Given the description of an element on the screen output the (x, y) to click on. 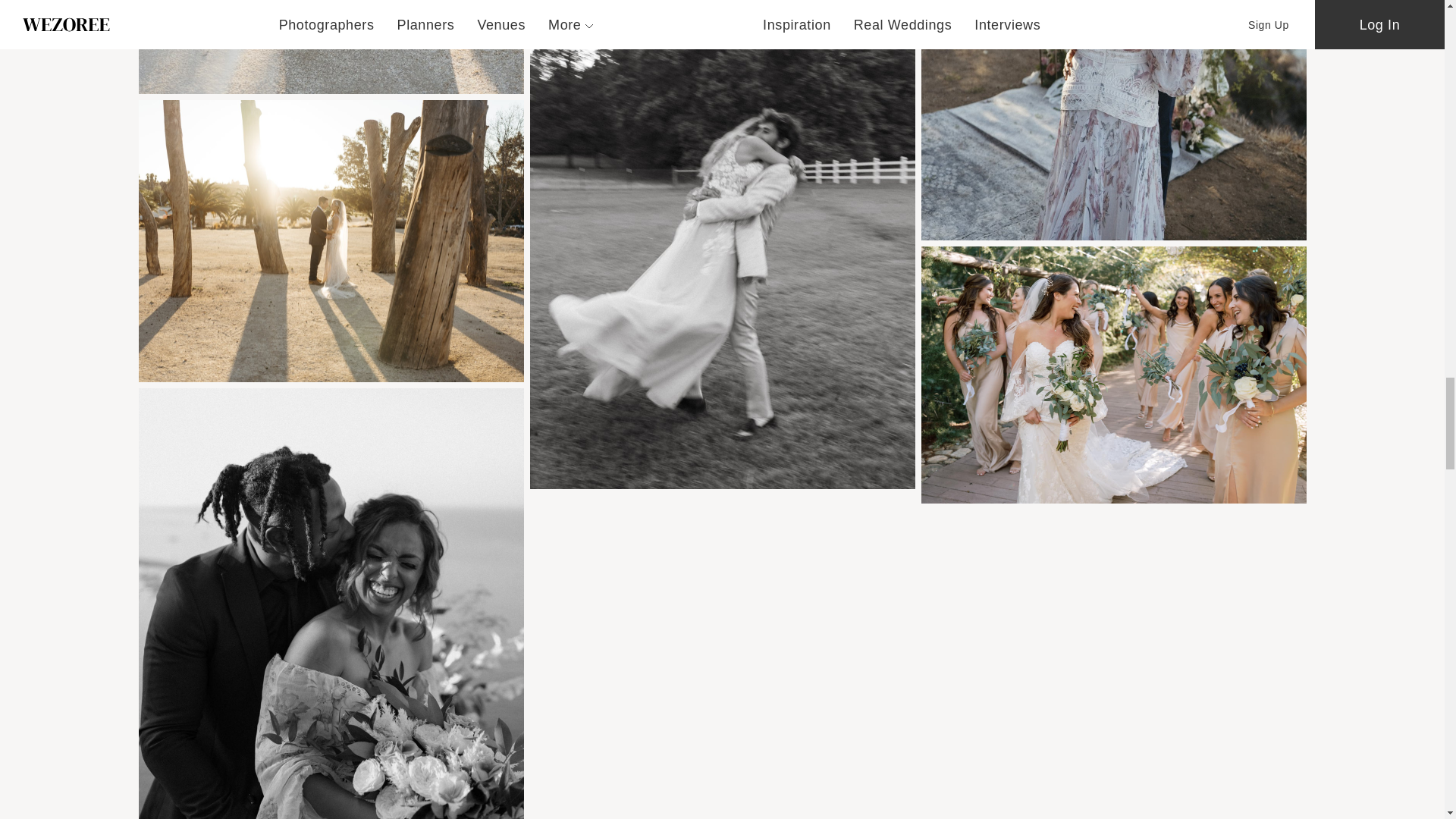
undefined (330, 241)
undefined (330, 47)
